Given the description of an element on the screen output the (x, y) to click on. 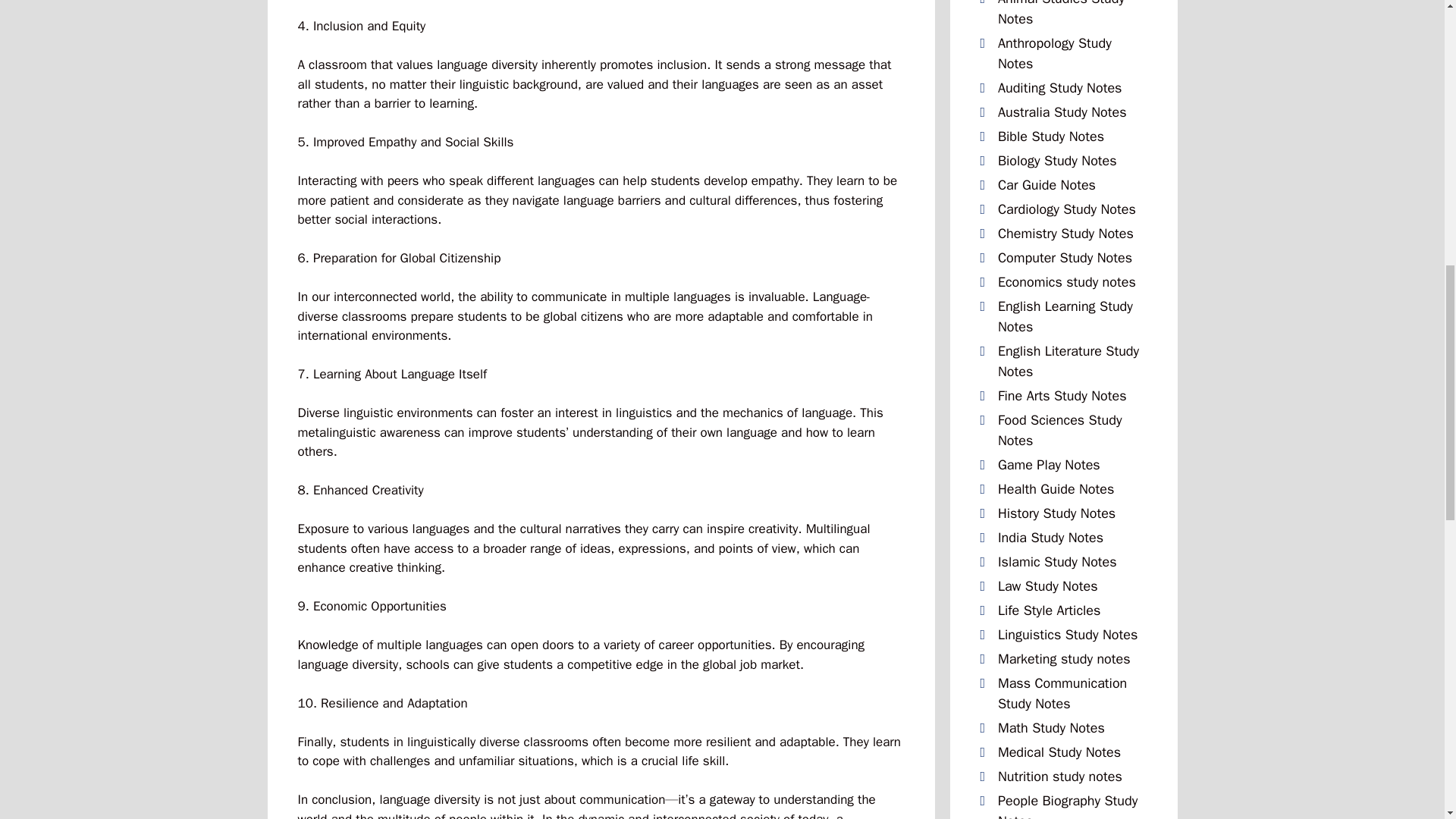
Auditing Study Notes (1059, 86)
Animal Studies Study Notes (1060, 13)
Anthropology Study Notes (1054, 53)
Biology Study Notes (1056, 159)
Australia Study Notes (1061, 111)
Scroll back to top (1406, 720)
Bible Study Notes (1050, 135)
